Given the description of an element on the screen output the (x, y) to click on. 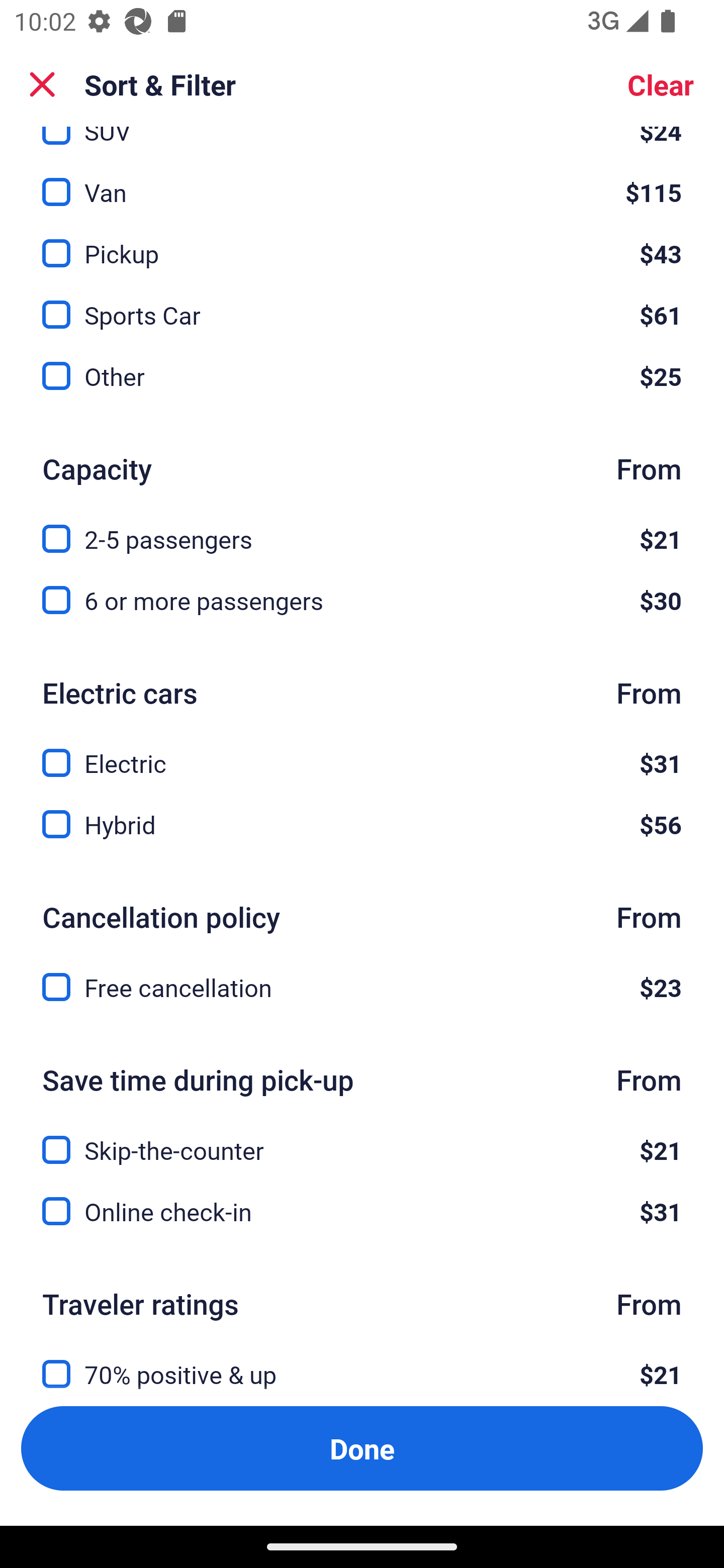
Close Sort and Filter (42, 84)
Clear (660, 84)
Van, $115 Van $115 (361, 180)
Pickup, $43 Pickup $43 (361, 241)
Sports Car, $61 Sports Car $61 (361, 302)
Other, $25 Other $25 (361, 375)
2-5 passengers, $21 2-5 passengers $21 (361, 527)
6 or more passengers, $30 6 or more passengers $30 (361, 600)
Electric, $31 Electric $31 (361, 751)
Hybrid, $56 Hybrid $56 (361, 824)
Free cancellation, $23 Free cancellation $23 (361, 987)
Skip-the-counter, $21 Skip-the-counter $21 (361, 1138)
Online check-in, $31 Online check-in $31 (361, 1211)
70% positive & up, $21 70% positive & up $21 (361, 1362)
Apply and close Sort and Filter Done (361, 1448)
